Given the description of an element on the screen output the (x, y) to click on. 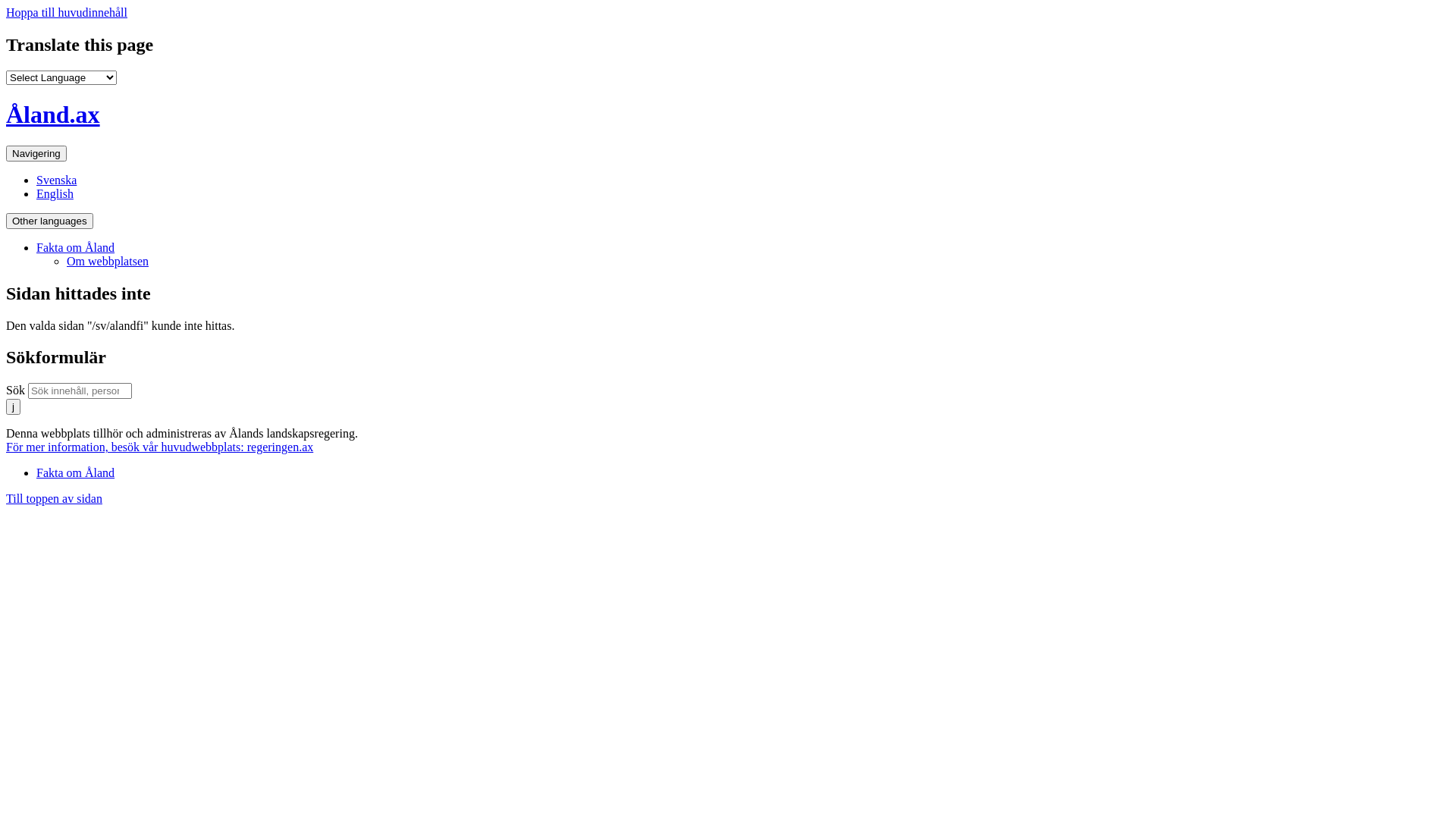
Svenska Element type: text (56, 179)
Om webbplatsen Element type: text (107, 260)
Other languages Element type: text (49, 221)
English Element type: text (54, 193)
j Element type: text (13, 406)
Till toppen av sidan Element type: text (54, 498)
Navigering Element type: text (36, 153)
